Given the description of an element on the screen output the (x, y) to click on. 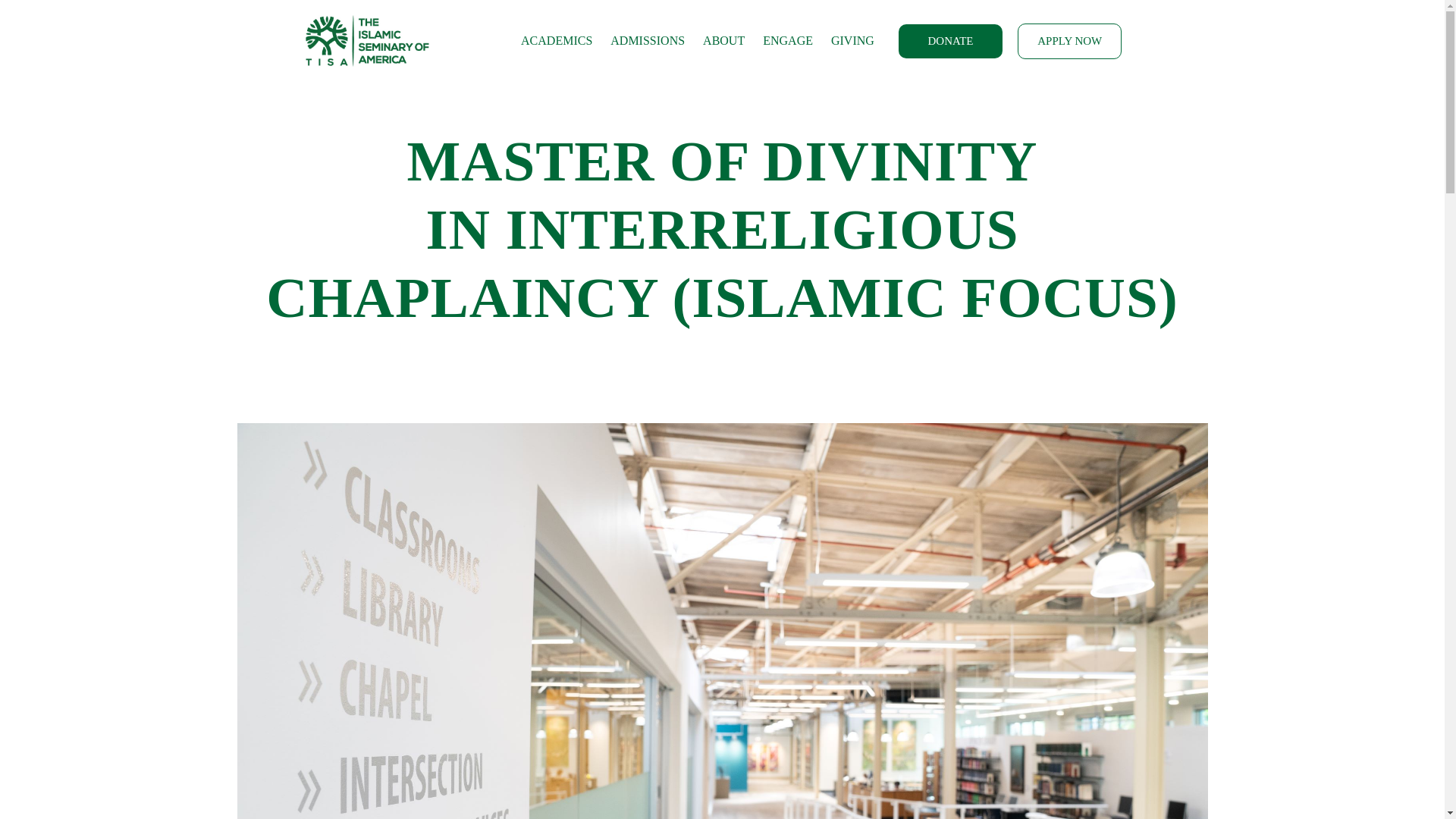
ABOUT (724, 40)
ADMISSIONS (647, 40)
ENGAGE (788, 40)
ACADEMICS (556, 40)
